Given the description of an element on the screen output the (x, y) to click on. 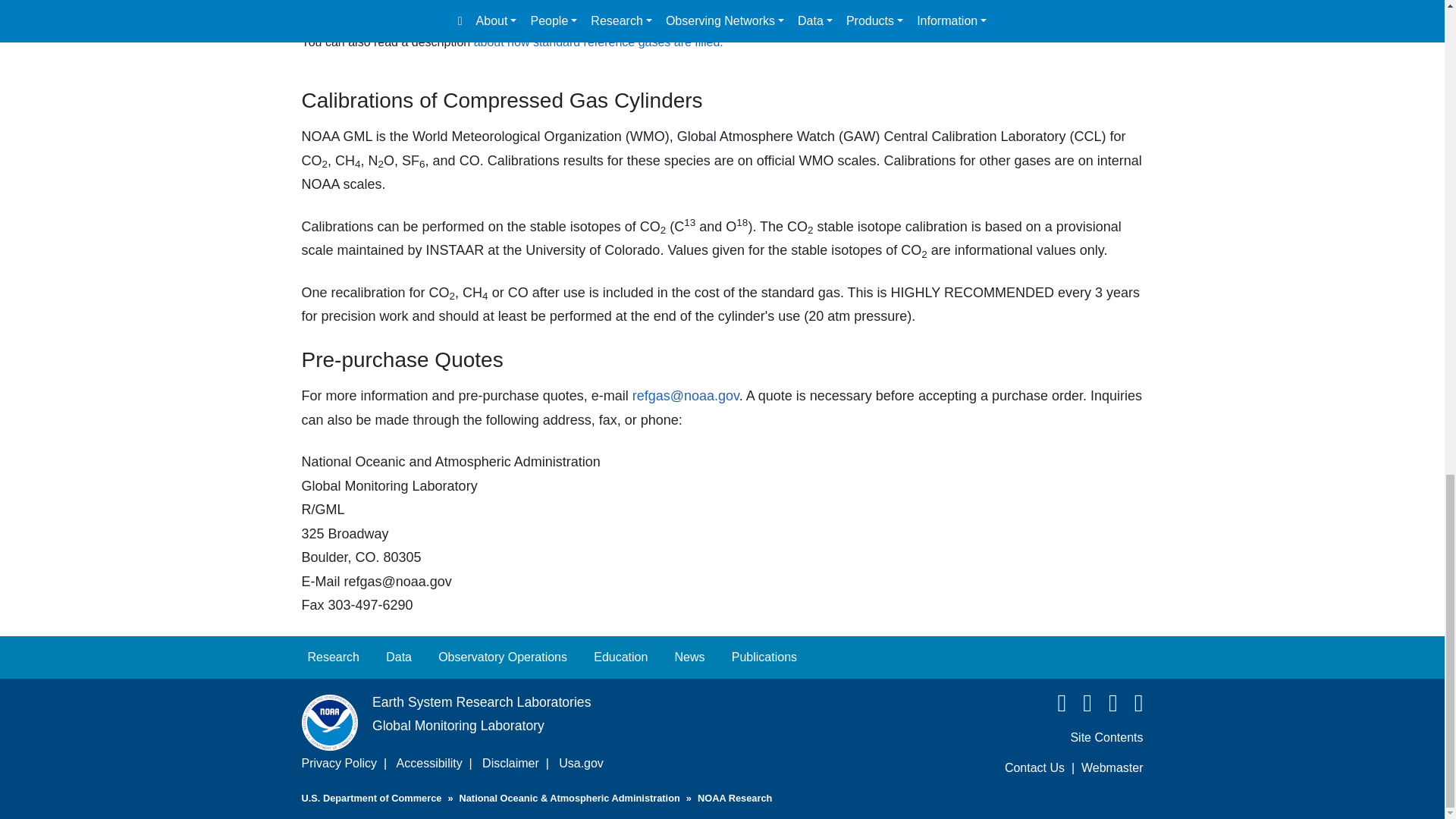
ESRL Youtube Channel (1105, 707)
ESRL Flickr (1131, 707)
ESRL Twitter (1081, 707)
ESRL Facebook (1054, 707)
